Given the description of an element on the screen output the (x, y) to click on. 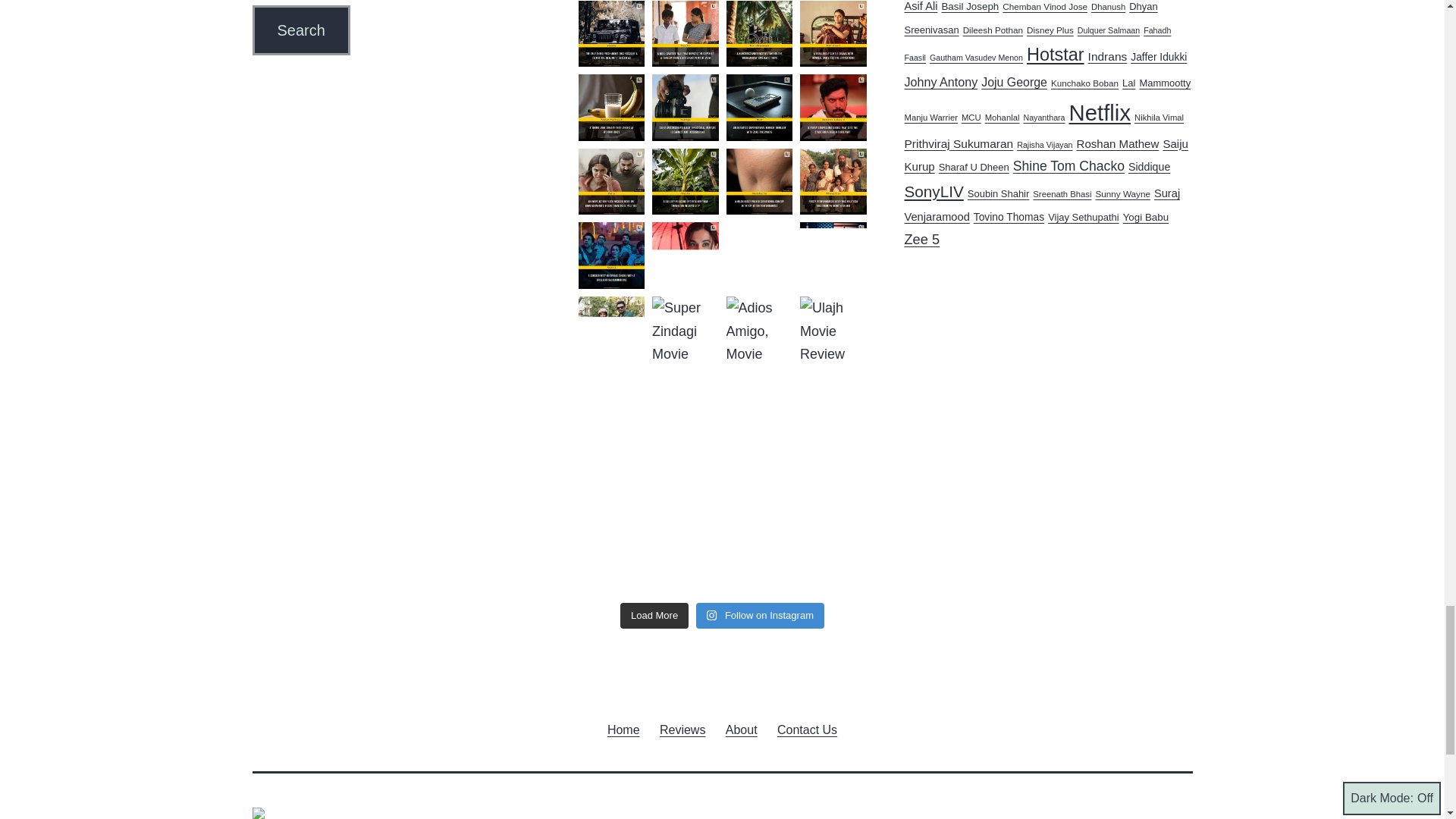
Search (300, 29)
Search (300, 29)
Search (300, 29)
